Given the description of an element on the screen output the (x, y) to click on. 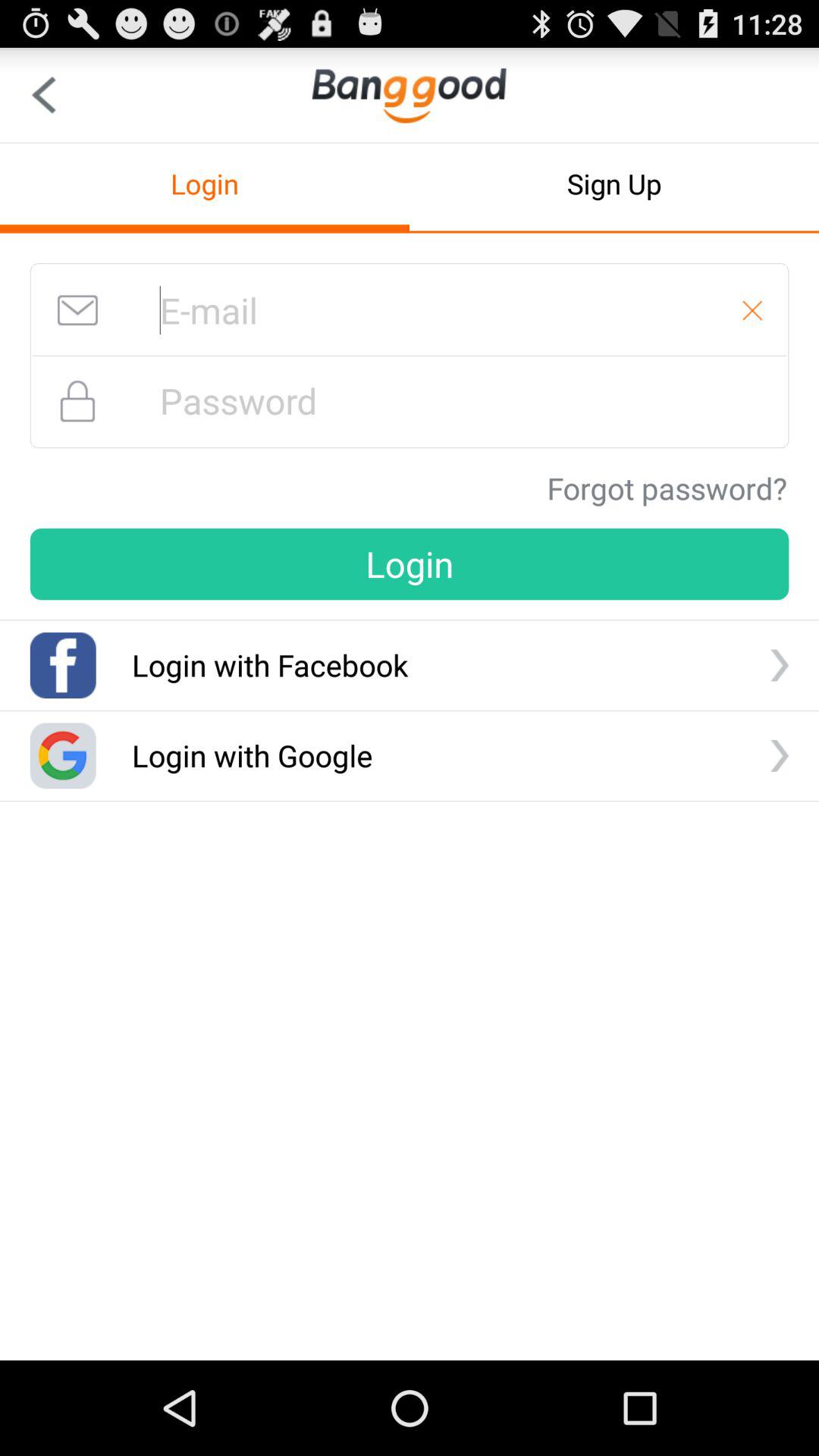
launch the button to the right of login (614, 183)
